Given the description of an element on the screen output the (x, y) to click on. 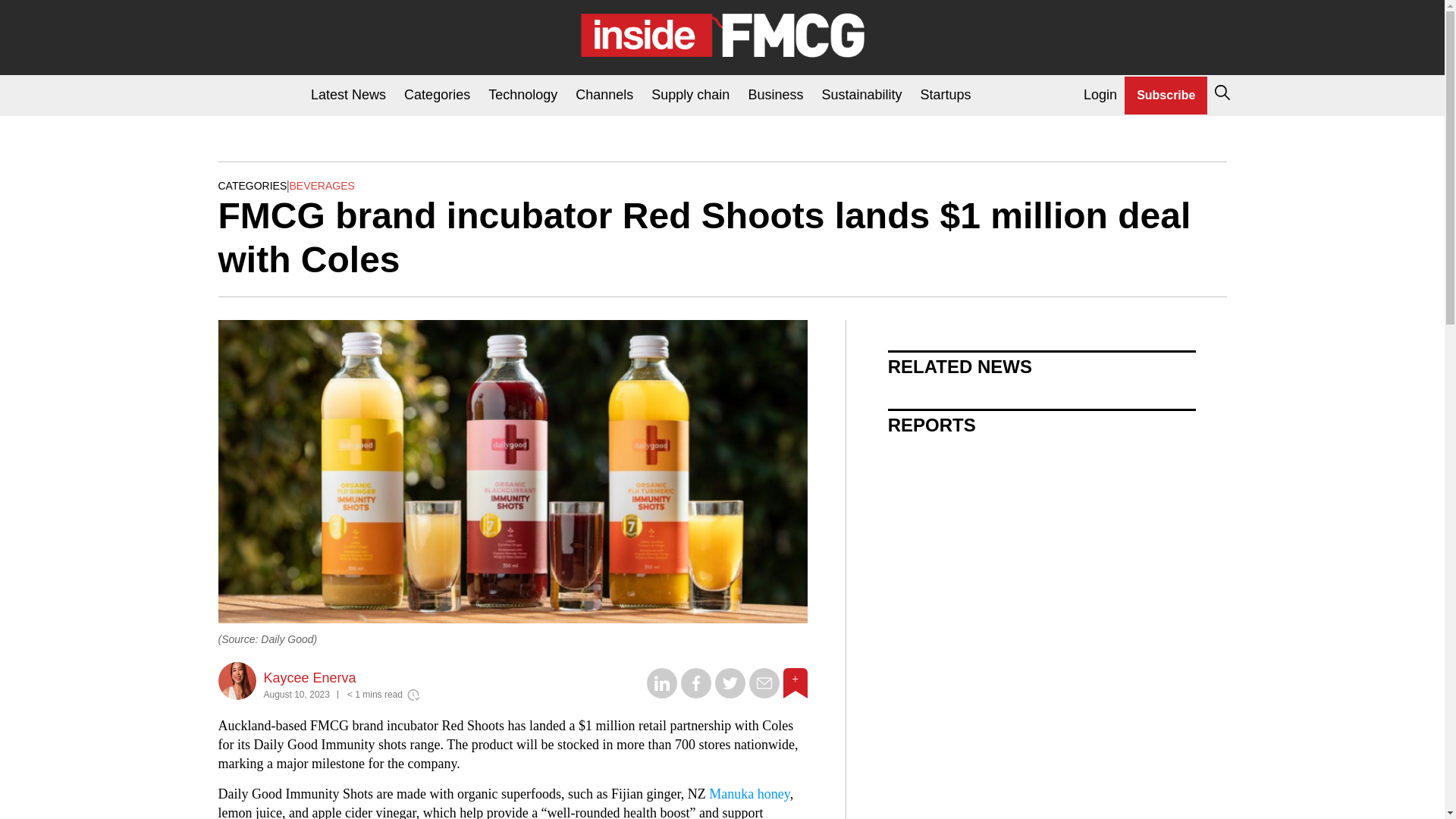
Share on Email (764, 694)
Share on Facebook (695, 694)
Latest News (347, 95)
Share on LinkedIn (661, 694)
Categories (436, 95)
Share on Twitter (730, 694)
